Given the description of an element on the screen output the (x, y) to click on. 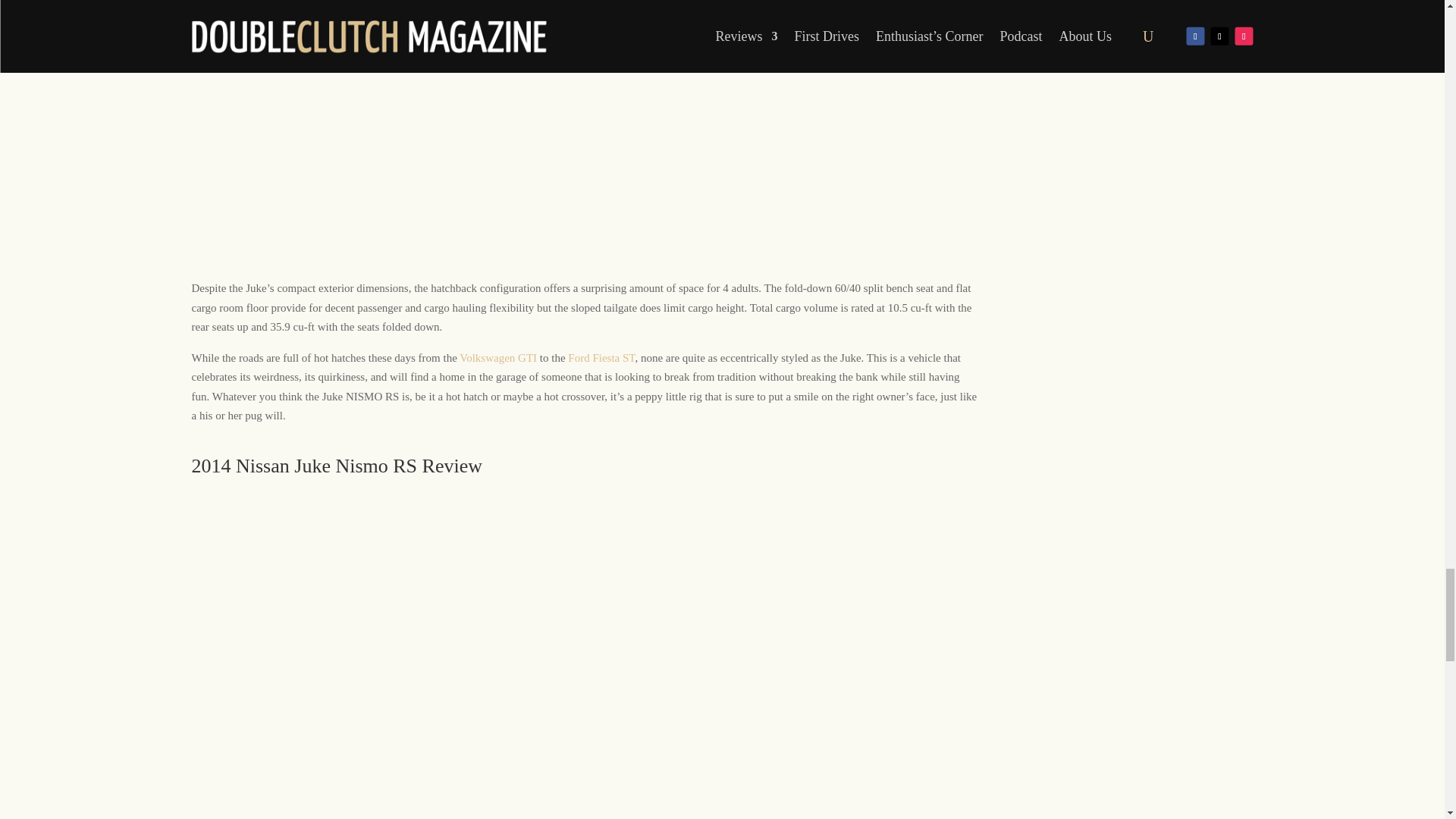
2015 Volkswagen GTI Autobahn (498, 357)
2014 Nissan Juke Nismo RS interior driver's side (426, 644)
2014 Ford Fiesta ST (600, 357)
2014 Nissan Juke Nismo RS center stack (585, 644)
2014 Nissan Juke Nismo RS interior  (744, 534)
2014 Nissan Juke Nismo RS side profile (903, 535)
2014 Nissan Juke Nismo RS front  (266, 644)
